Given the description of an element on the screen output the (x, y) to click on. 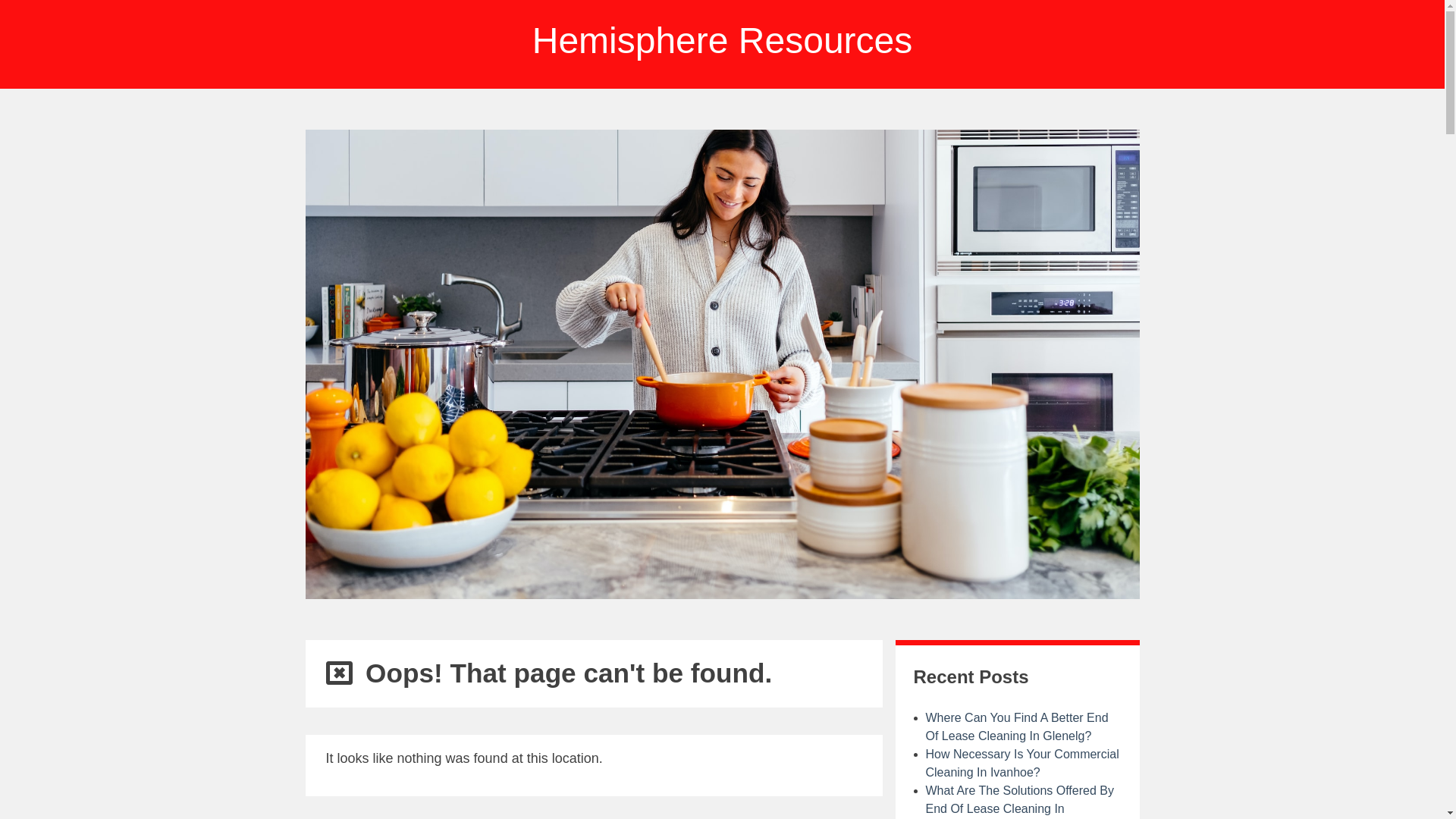
How Necessary Is Your Commercial Cleaning In Ivanhoe? Element type: text (1021, 762)
Hemisphere Resources Element type: text (722, 40)
